Given the description of an element on the screen output the (x, y) to click on. 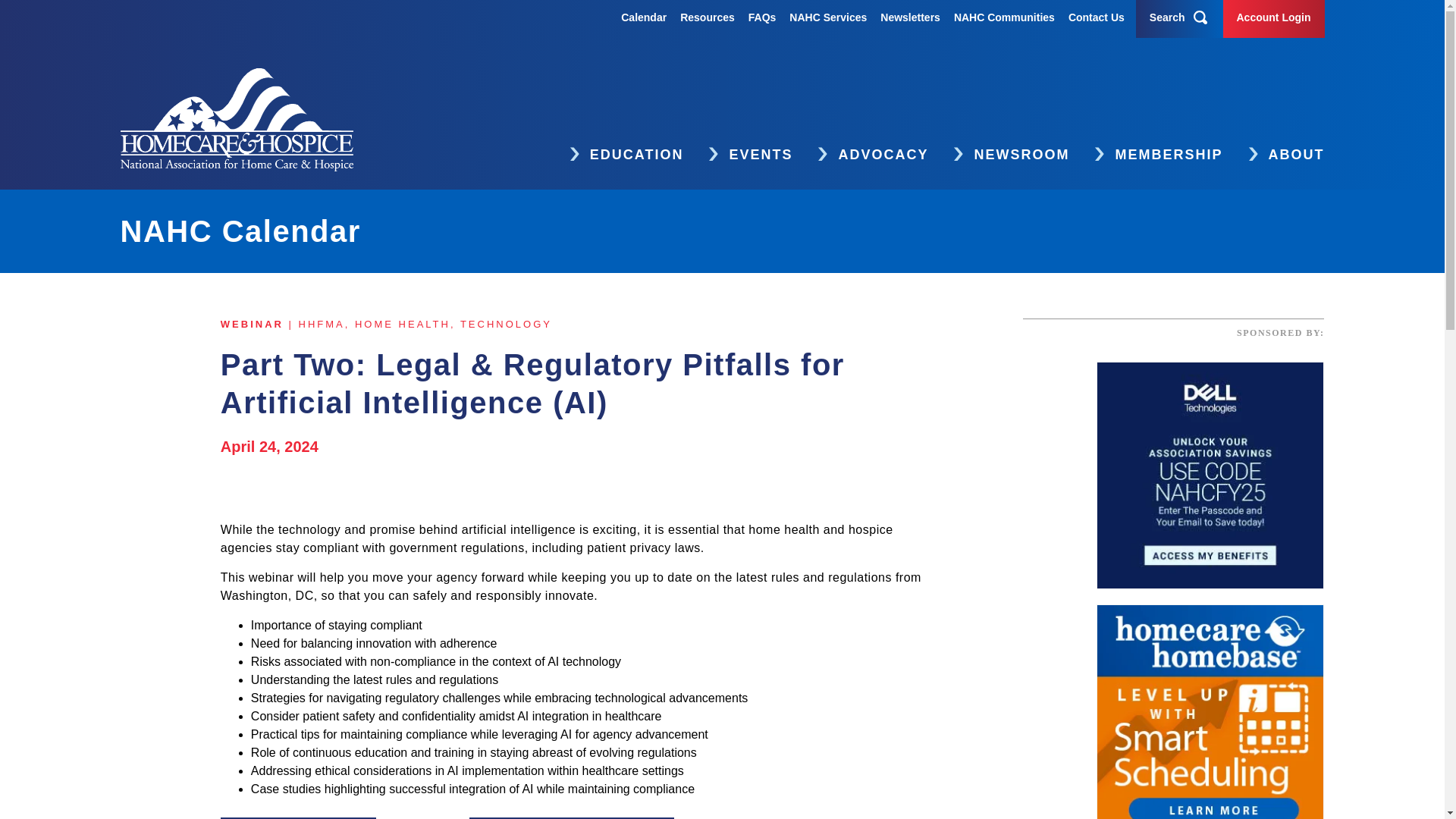
NAHC Services (827, 17)
EVENTS (745, 156)
Contact Us (1096, 17)
FAQs (762, 17)
NAHC Communities (1003, 17)
EDUCATION (621, 156)
ADVOCACY (868, 156)
Account Login (1273, 17)
Search (1167, 17)
Newsletters (910, 17)
